Given the description of an element on the screen output the (x, y) to click on. 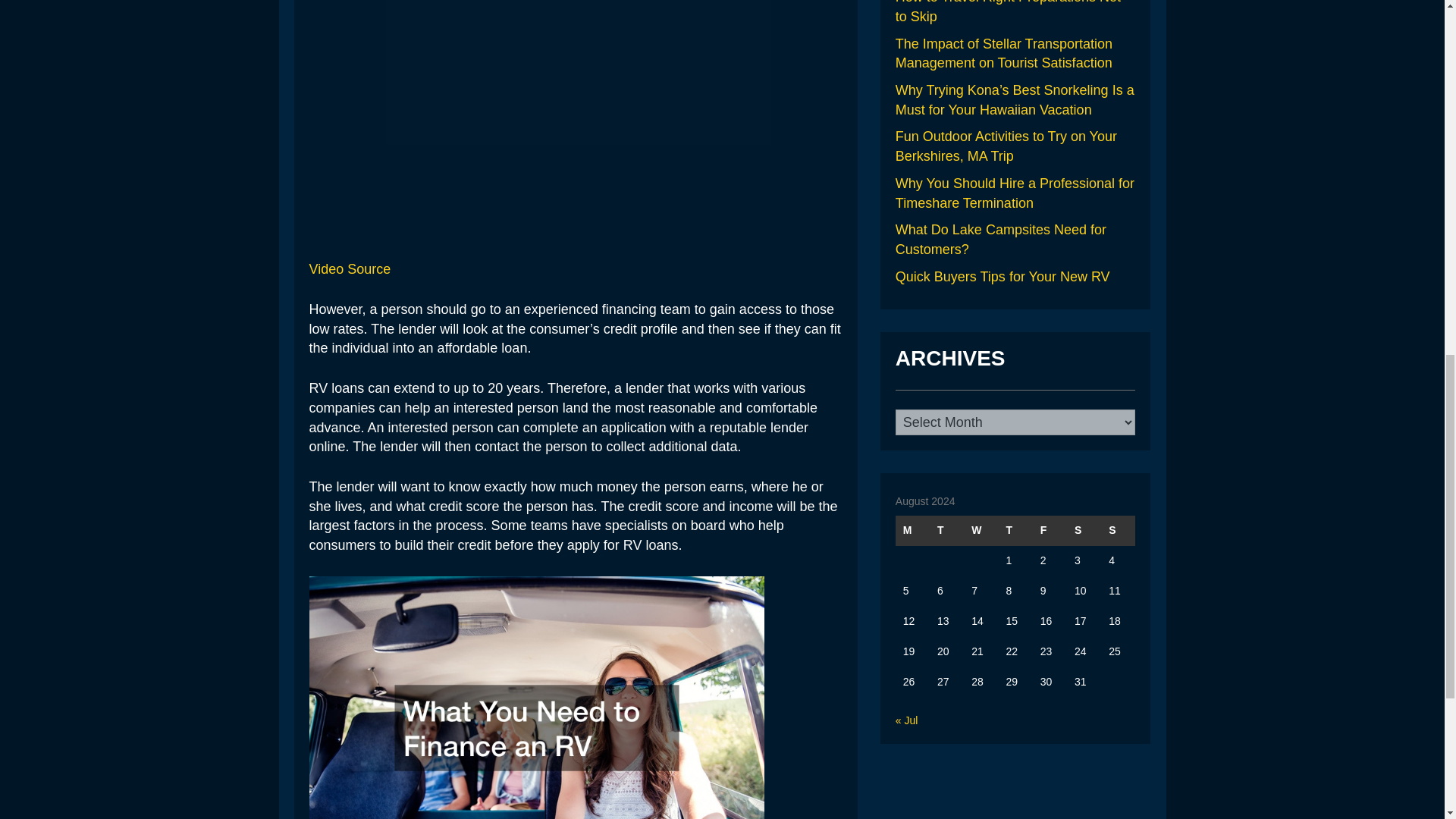
Why You Should Hire a Professional for Timeshare Termination (1014, 193)
What Do Lake Campsites Need for Customers? (1000, 239)
Thursday (1015, 530)
Monday (912, 530)
Sunday (1117, 530)
How to Travel Right Preparations Not to Skip (1008, 12)
Friday (1049, 530)
Wednesday (980, 530)
Video Source (349, 268)
Tuesday (946, 530)
